Given the description of an element on the screen output the (x, y) to click on. 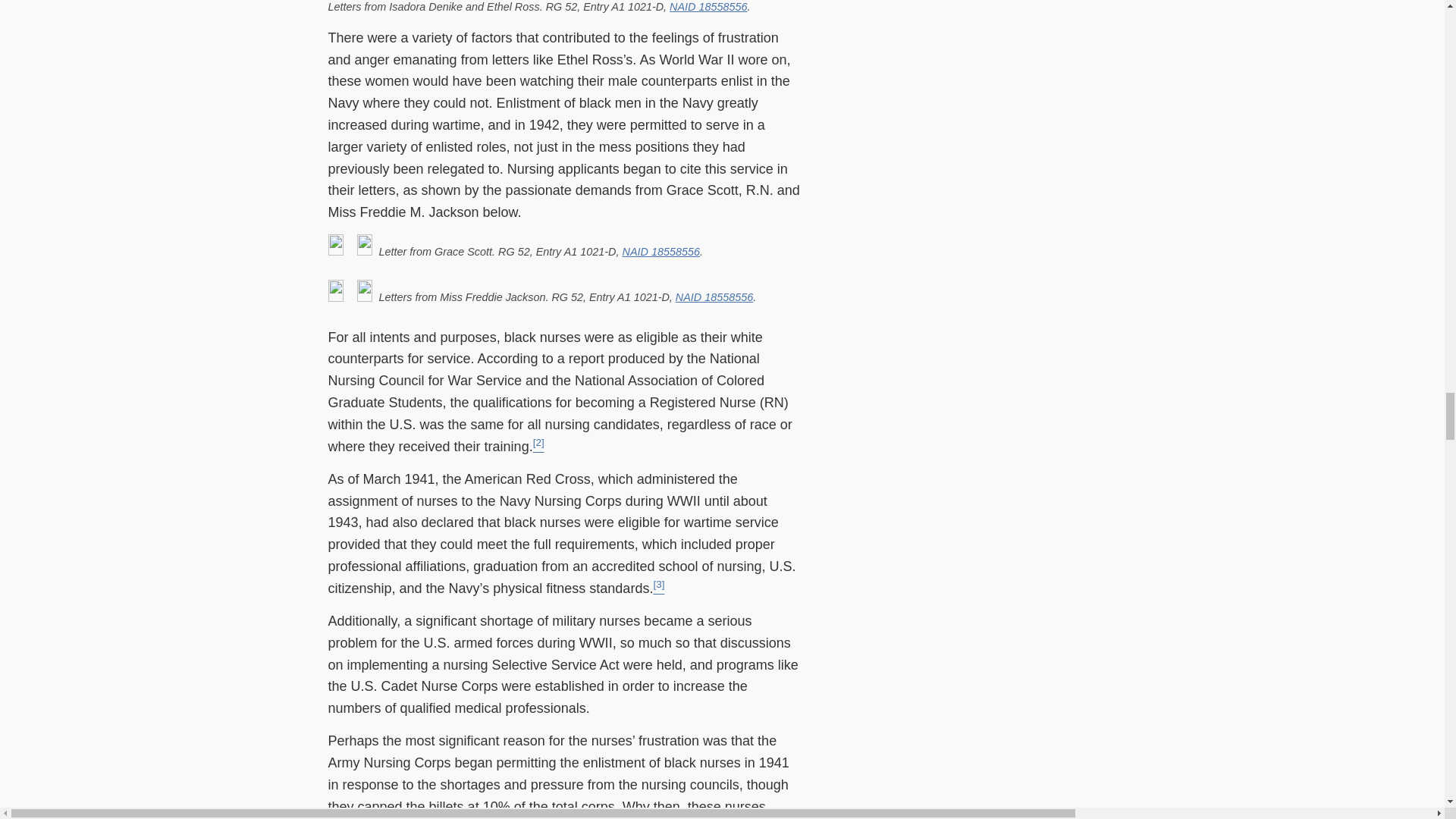
NAID 18558556 (707, 6)
NAID 18558556 (713, 297)
NAID 18558556 (659, 251)
